Given the description of an element on the screen output the (x, y) to click on. 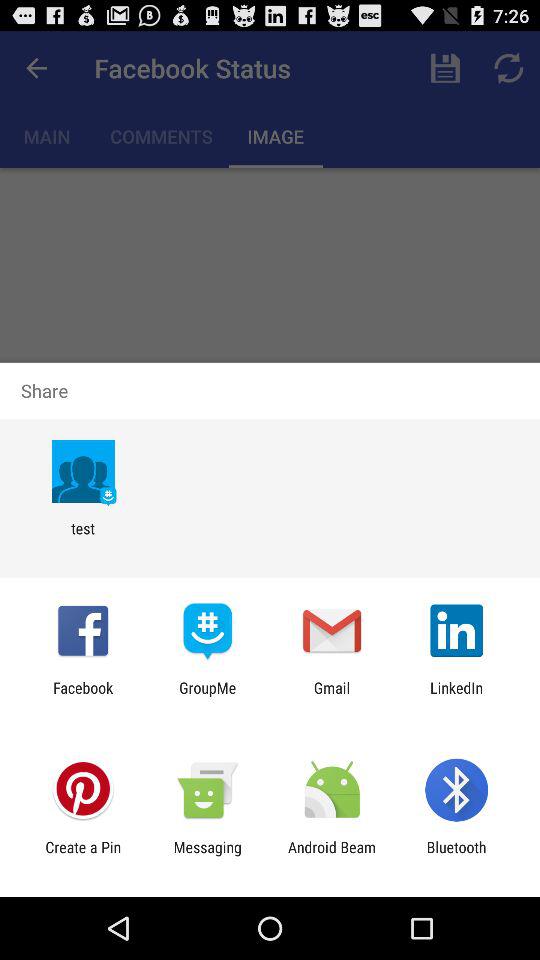
scroll until the messaging app (207, 856)
